Given the description of an element on the screen output the (x, y) to click on. 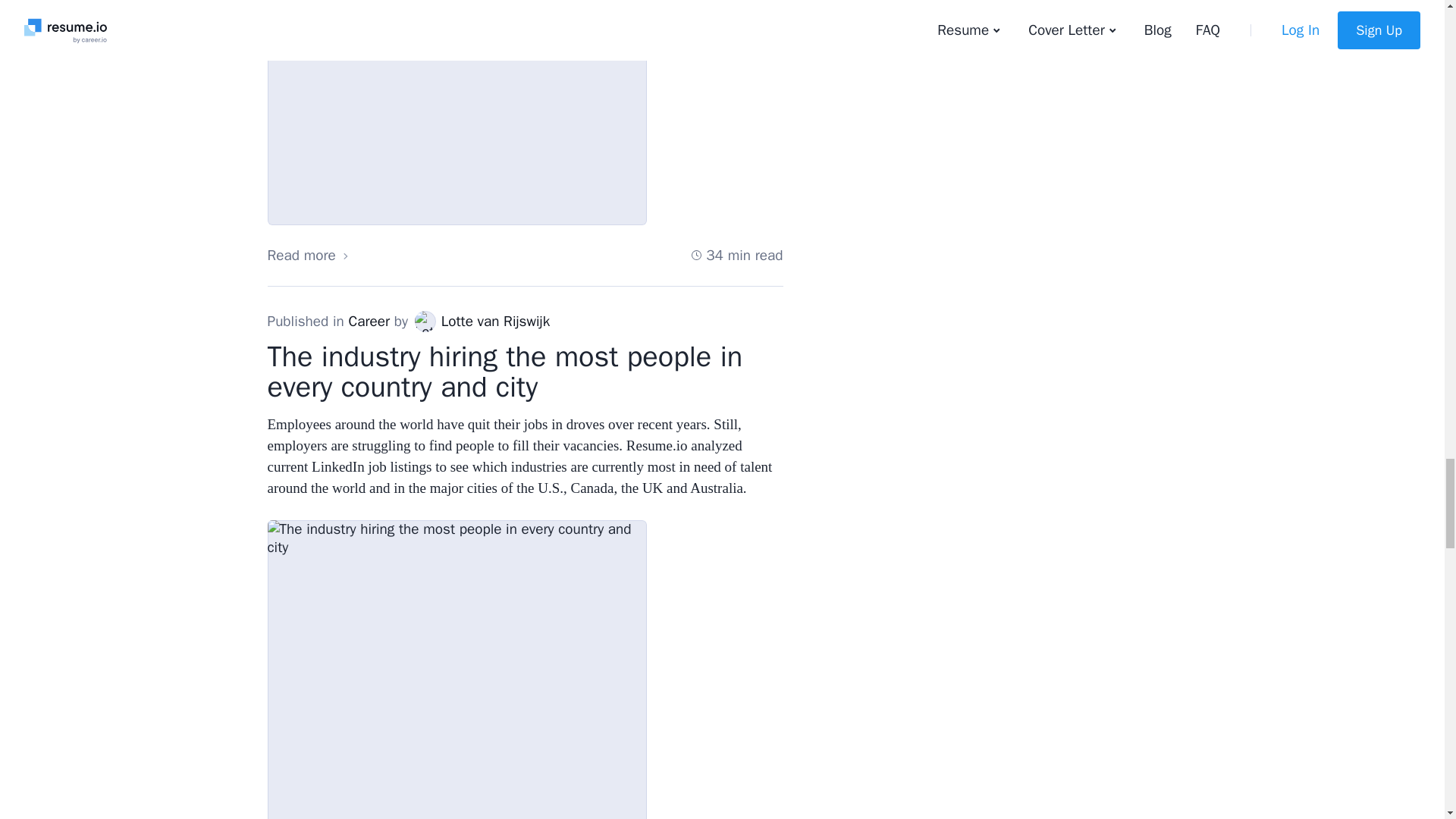
Lotte van Rijswijk (424, 321)
The most competitive American companies for job seekers (456, 113)
